Given the description of an element on the screen output the (x, y) to click on. 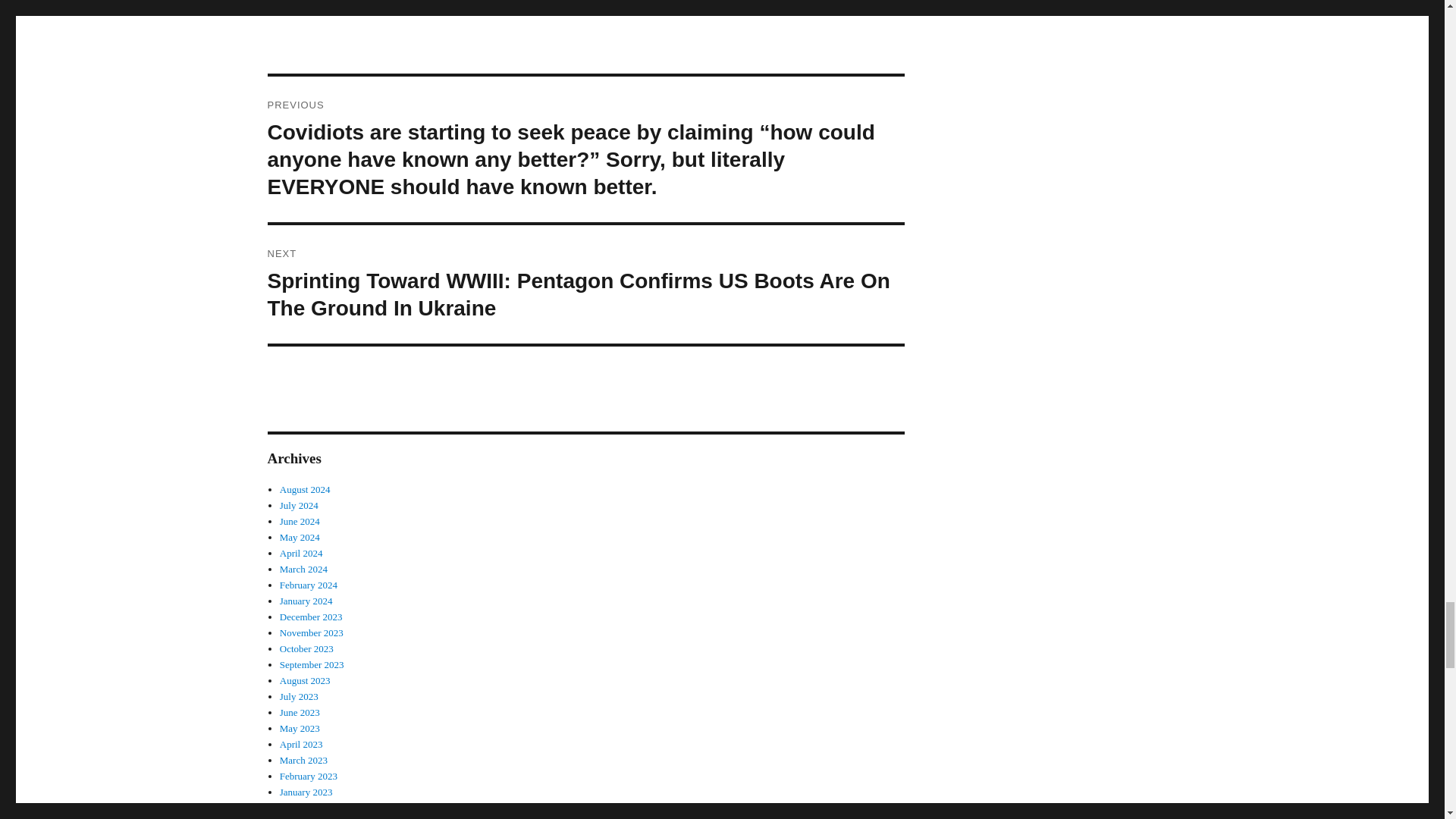
June 2024 (299, 521)
April 2024 (301, 552)
January 2024 (306, 600)
July 2024 (298, 505)
March 2024 (303, 568)
August 2024 (304, 489)
February 2024 (308, 584)
May 2024 (299, 536)
